Given the description of an element on the screen output the (x, y) to click on. 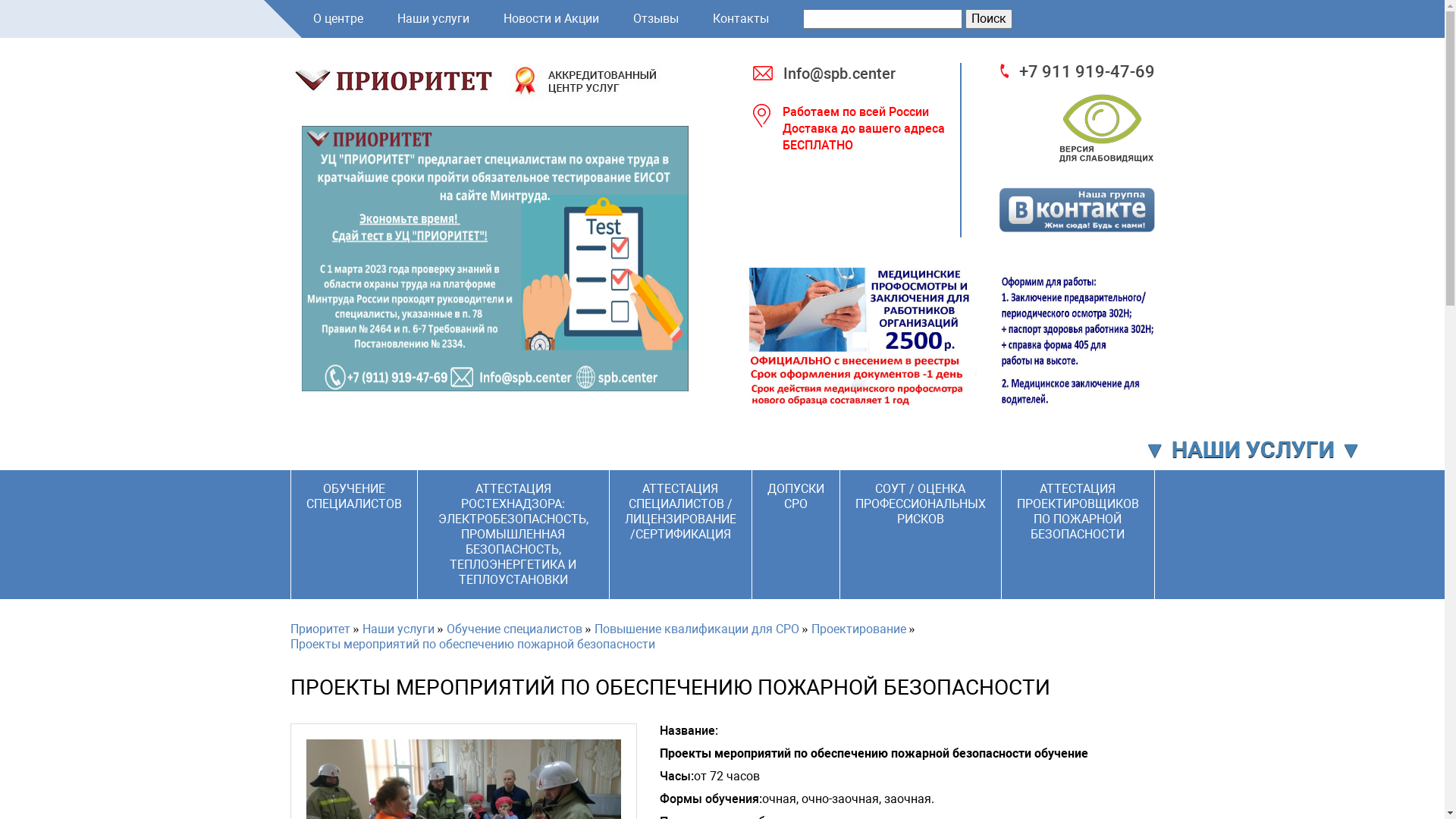
Info@spb.center Element type: text (863, 73)
+7 911 919-47-69 Element type: text (1076, 71)
